Given the description of an element on the screen output the (x, y) to click on. 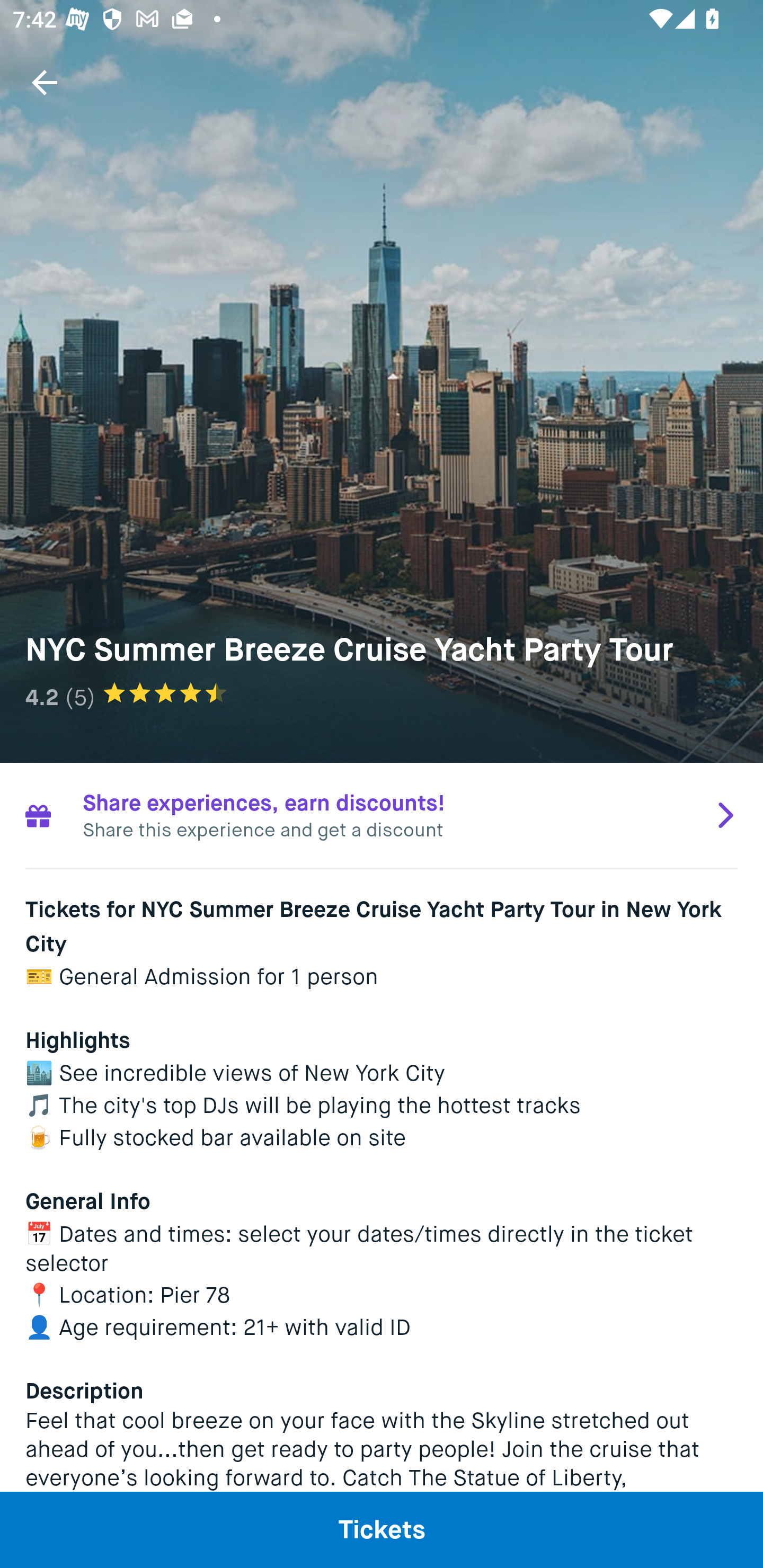
Navigate up (44, 82)
(5) (79, 697)
Tickets (381, 1529)
